Given the description of an element on the screen output the (x, y) to click on. 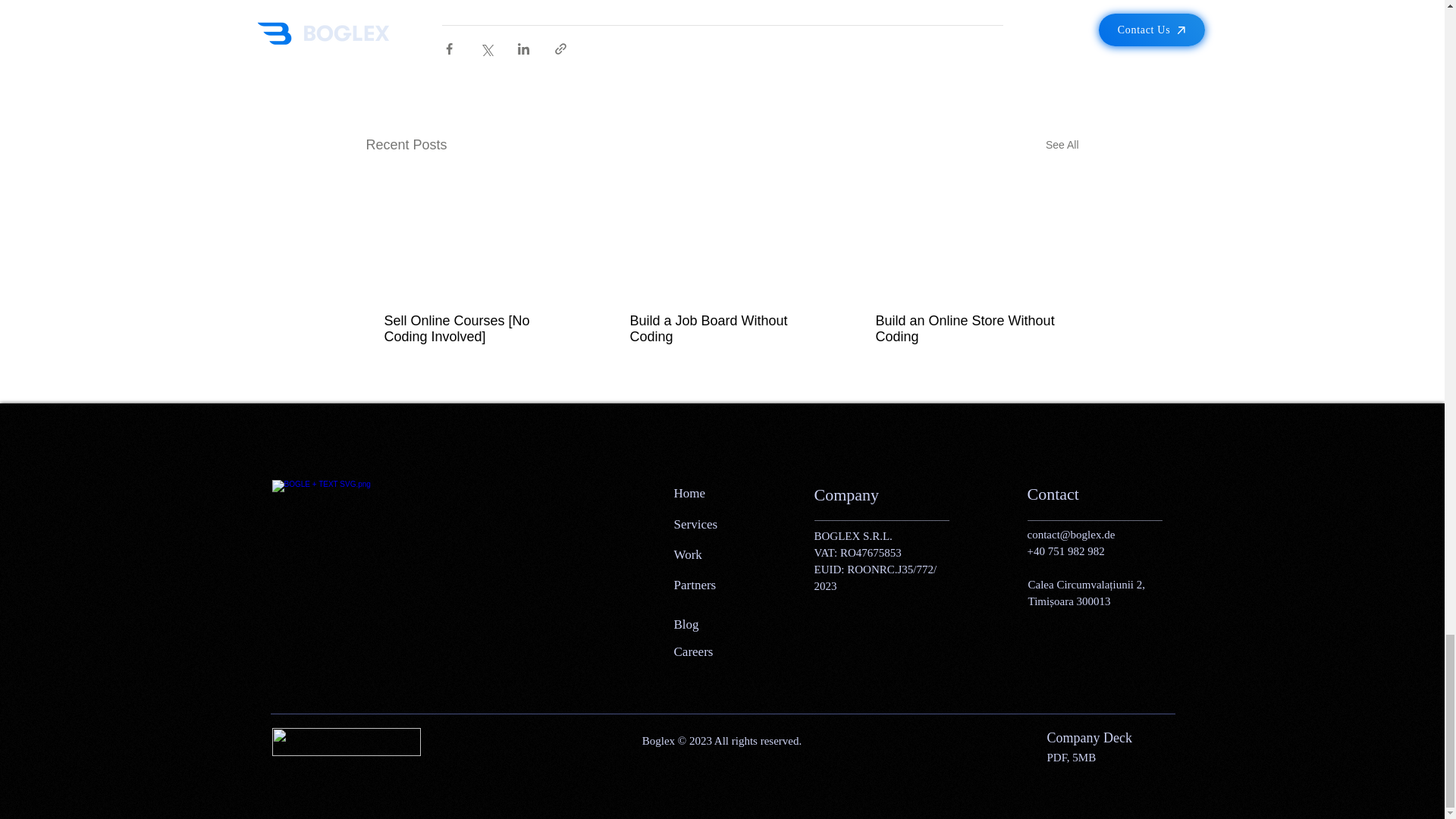
Services (694, 523)
Blog (1061, 145)
See All (1061, 145)
Partners (688, 493)
Home (688, 493)
Company (846, 494)
Boglex (355, 495)
Build a Job Board Without Coding (720, 328)
Work (686, 554)
Contact (1052, 493)
Partners (694, 585)
Build an Online Store Without Coding (966, 328)
